Given the description of an element on the screen output the (x, y) to click on. 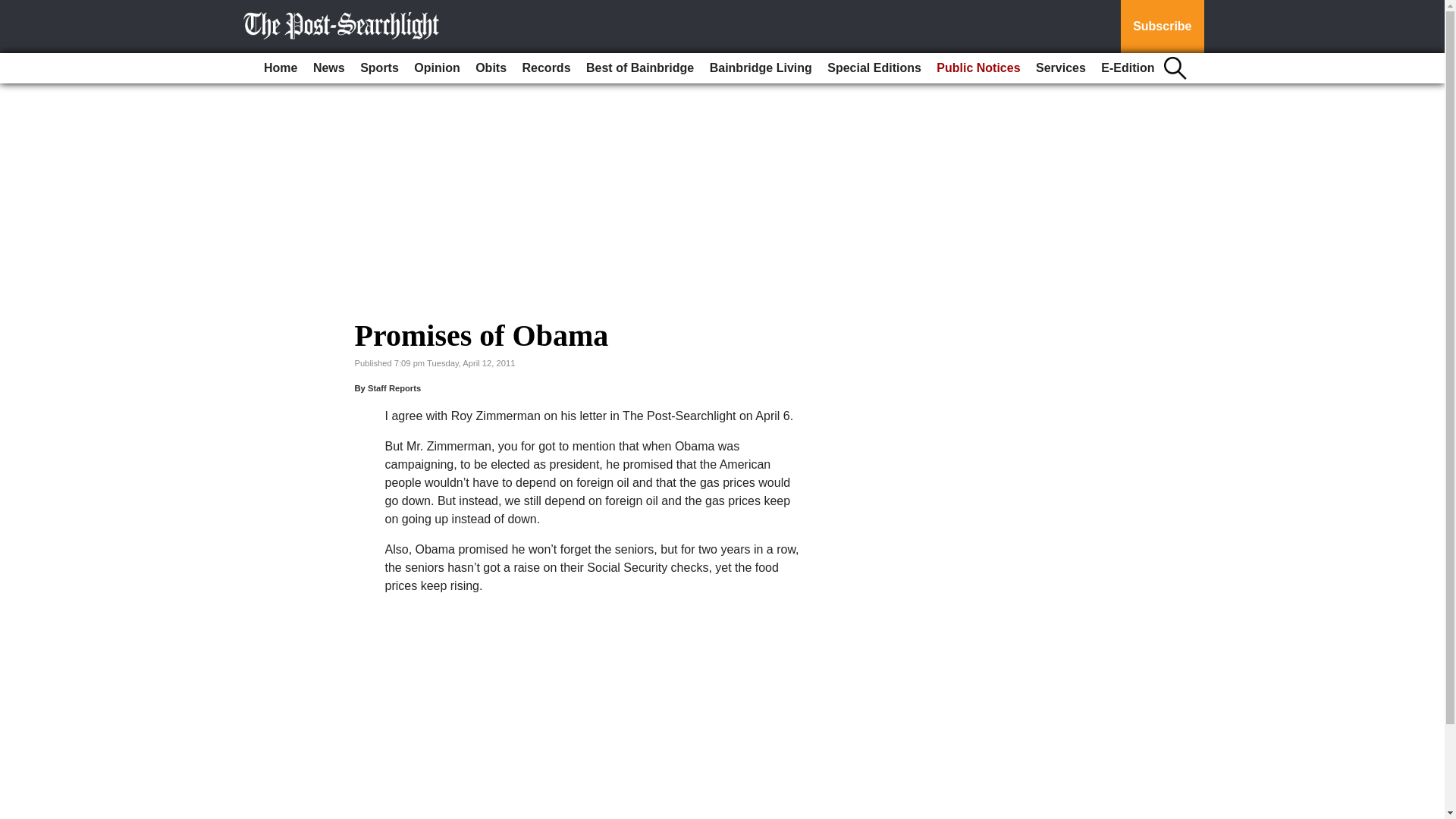
E-Edition (1127, 68)
Obits (490, 68)
Sports (378, 68)
Opinion (436, 68)
Home (279, 68)
Public Notices (978, 68)
Special Editions (874, 68)
Subscribe (1162, 26)
News (328, 68)
Services (1060, 68)
